Given the description of an element on the screen output the (x, y) to click on. 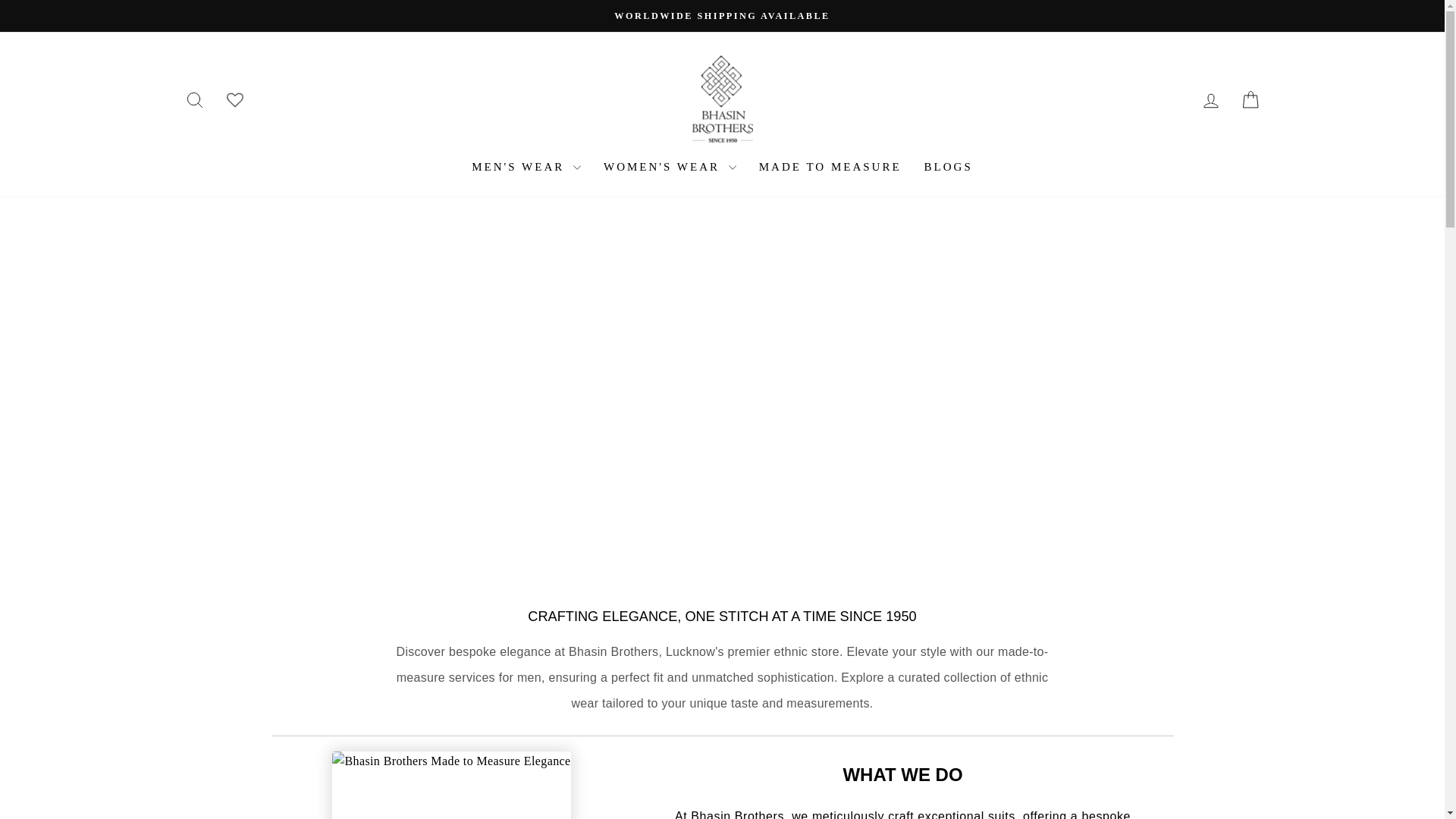
ICON-SEARCH (194, 99)
CART (1249, 99)
ACCOUNT (194, 99)
